Given the description of an element on the screen output the (x, y) to click on. 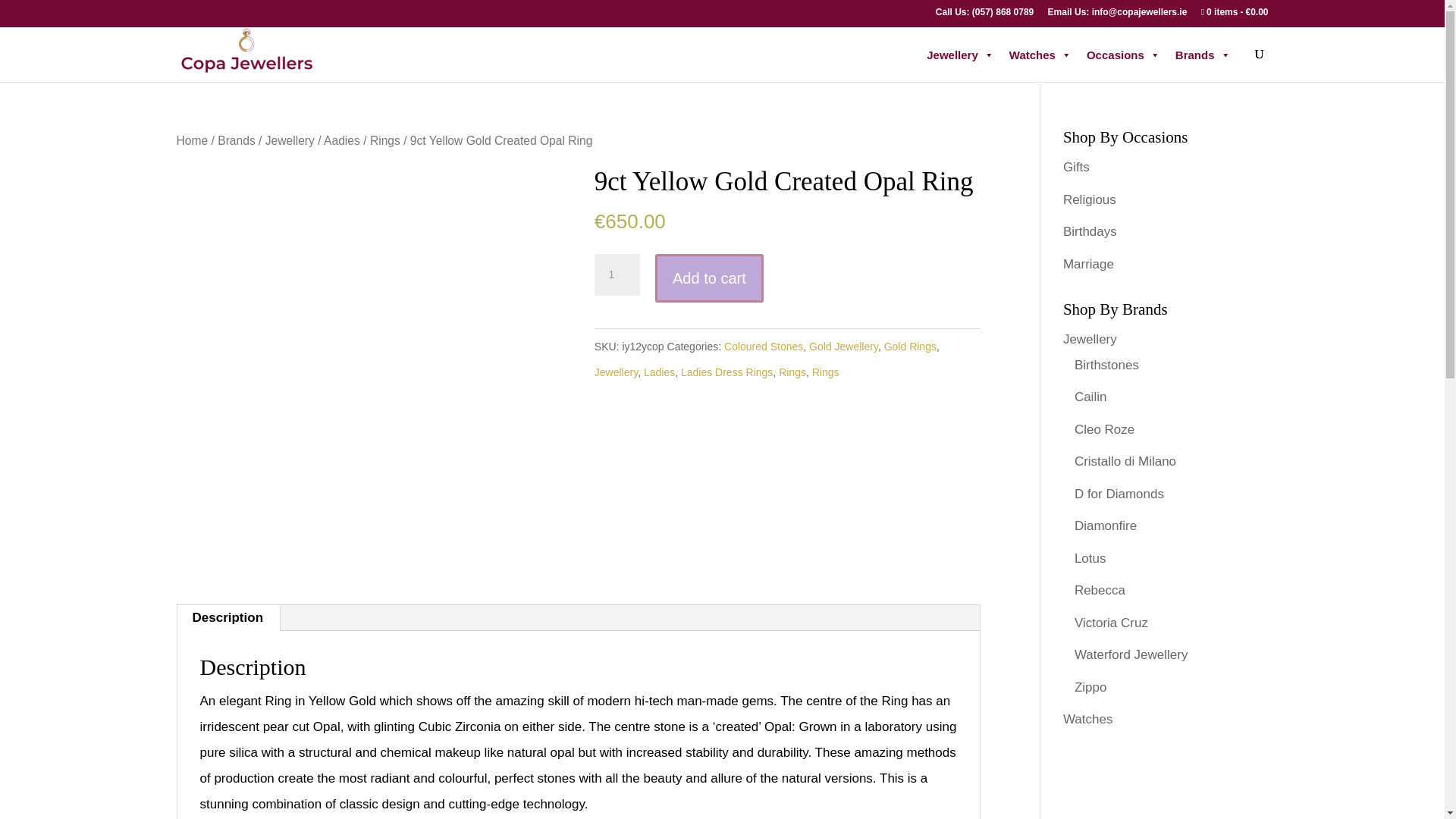
1 (617, 274)
Start shopping (1234, 15)
Jewellery (959, 55)
